Given the description of an element on the screen output the (x, y) to click on. 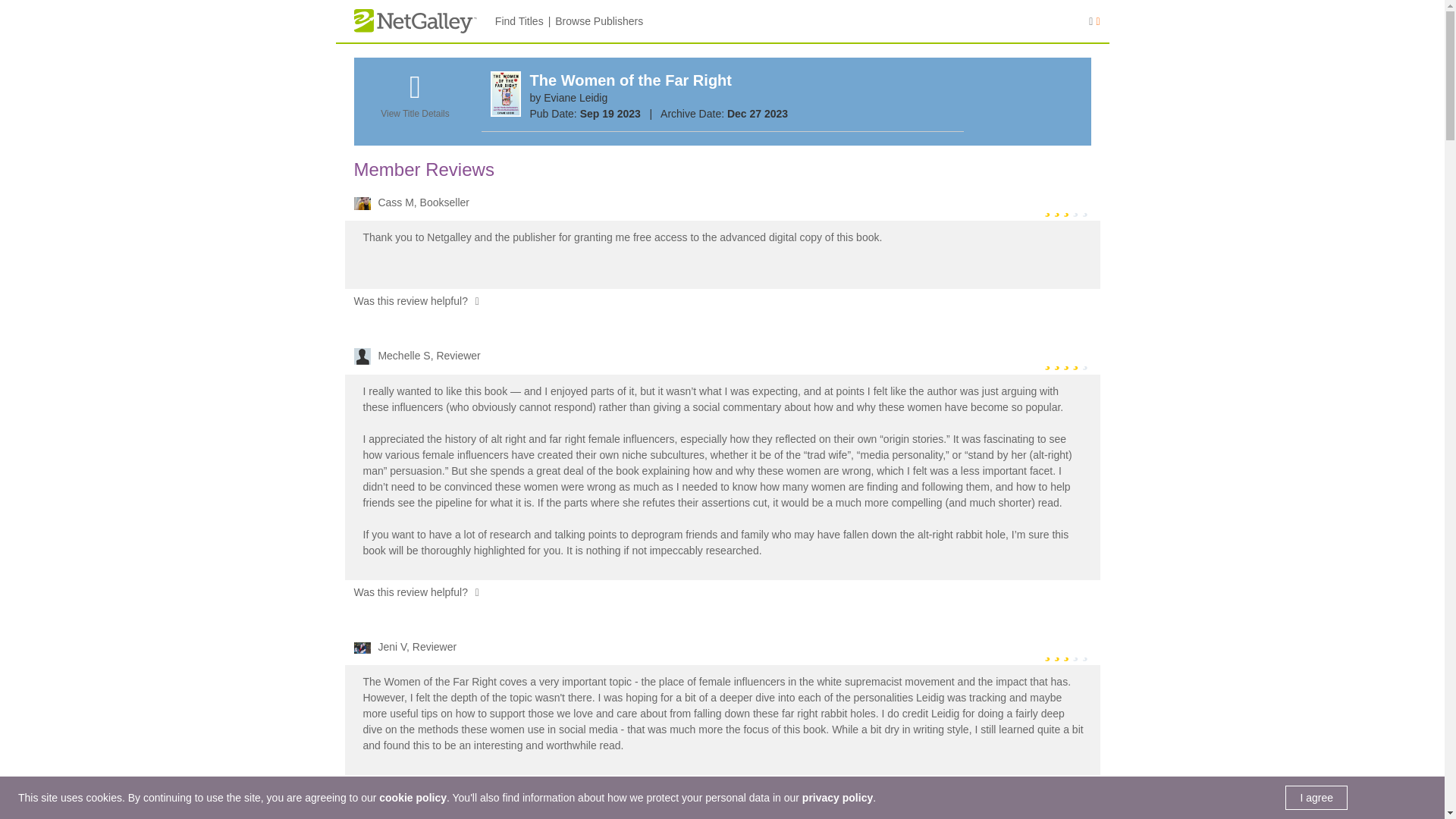
Browse Publishers (598, 21)
Find Titles (519, 21)
The Women of the Far Right (630, 80)
View Title Details (414, 104)
